Given the description of an element on the screen output the (x, y) to click on. 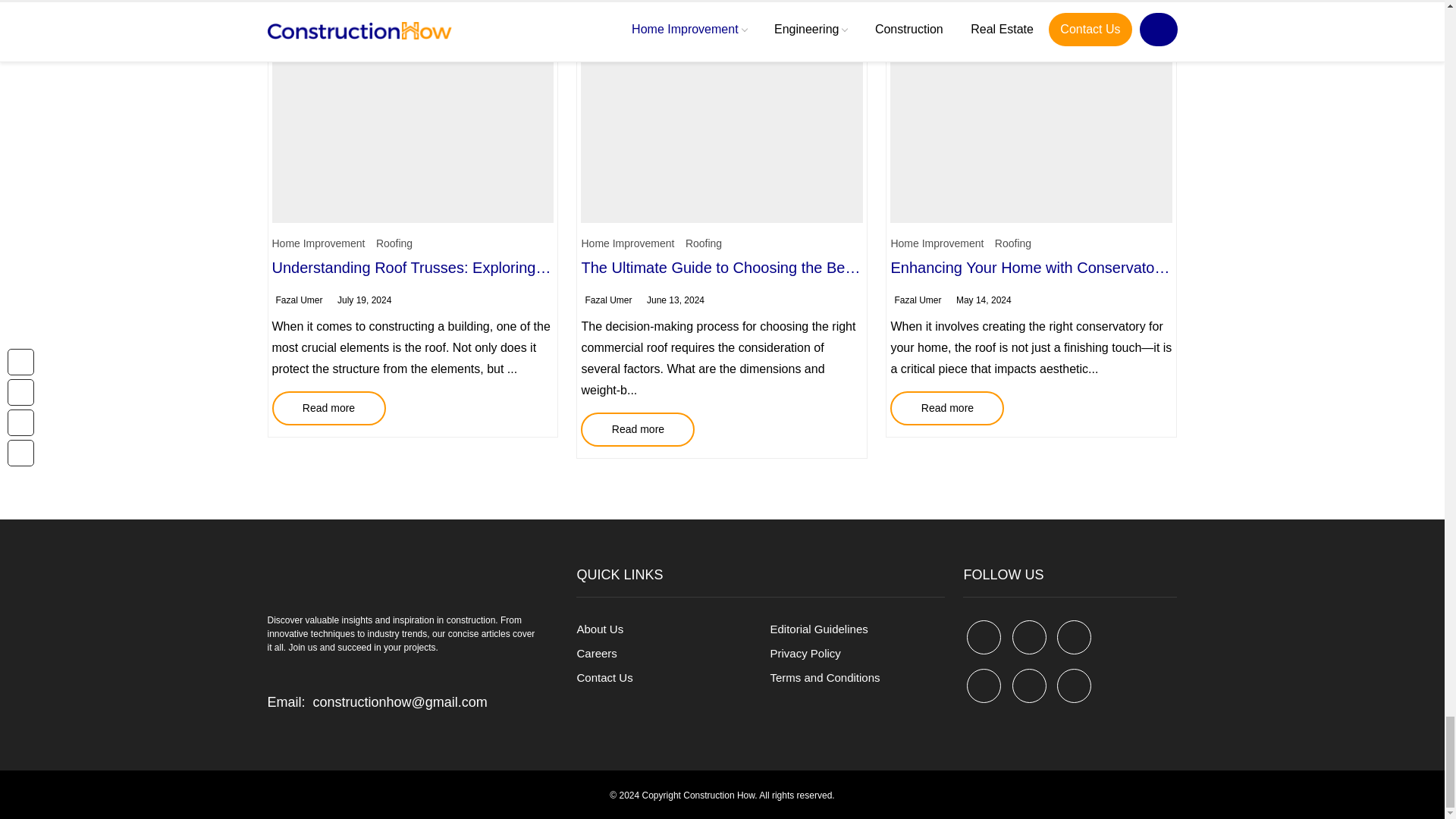
facebook (983, 636)
twitter (1028, 636)
pinterest (1073, 636)
